Given the description of an element on the screen output the (x, y) to click on. 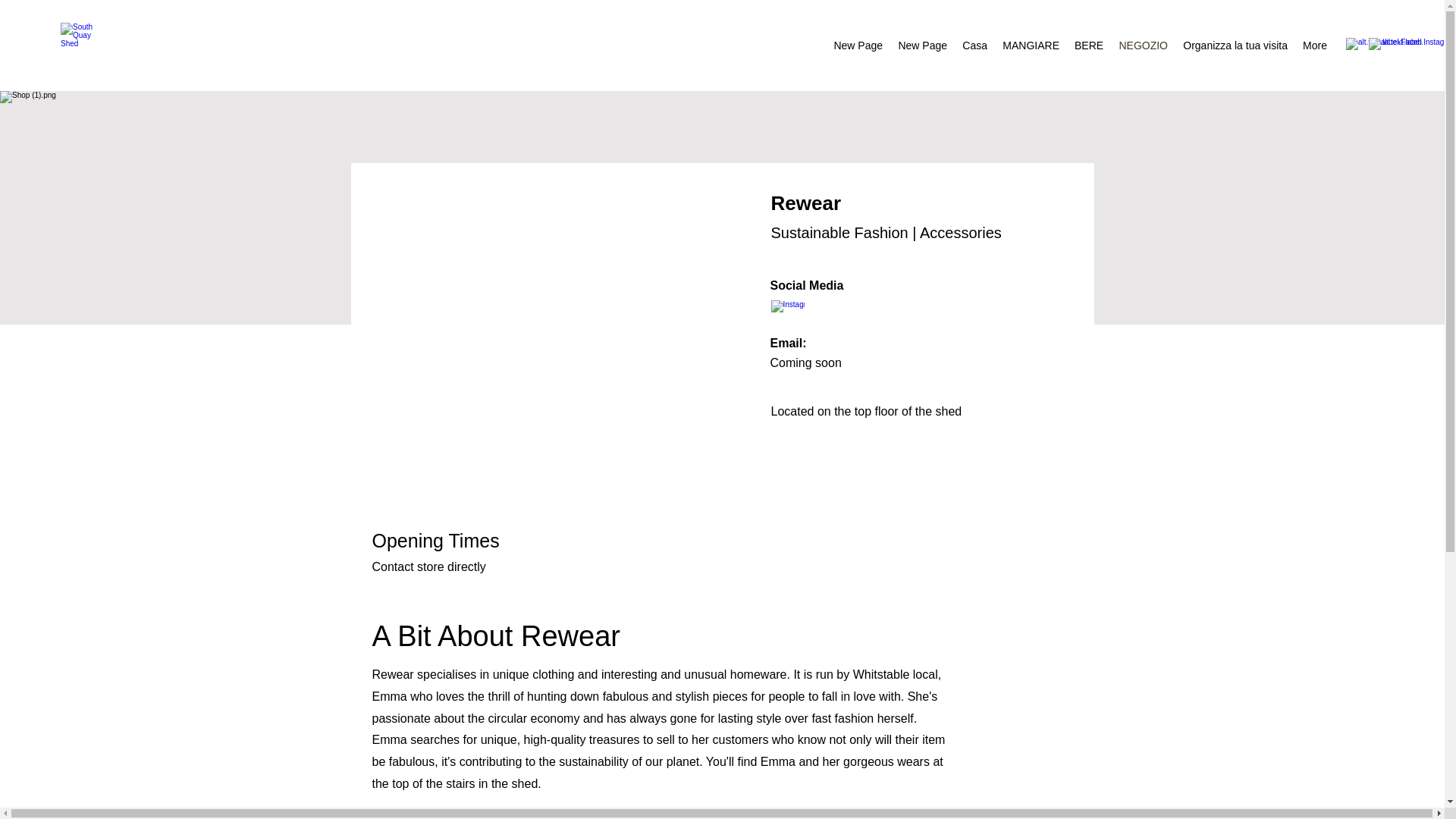
MANGIARE (1030, 45)
Casa (974, 45)
Organizza la tua visita (1234, 45)
BERE (1088, 45)
South Quay Shd (83, 44)
New Page (857, 45)
Coming soon (805, 362)
NEGOZIO (1142, 45)
Rewear (805, 202)
New Page (922, 45)
